Given the description of an element on the screen output the (x, y) to click on. 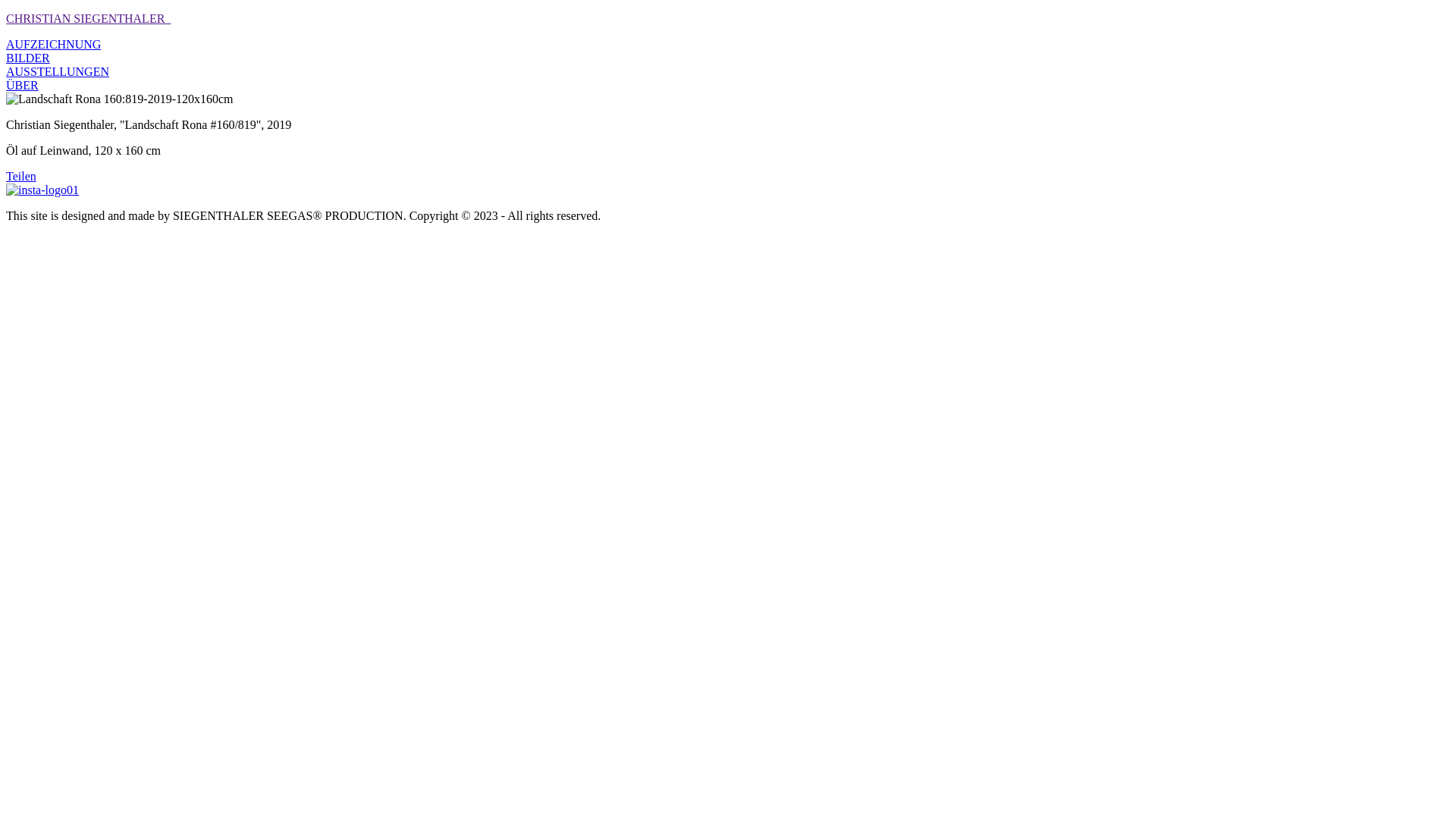
CHRISTIAN SIEGENTHALER_ Element type: text (88, 18)
AUSSTELLUNGEN Element type: text (57, 71)
BILDER Element type: text (28, 57)
insta-logo01 Element type: hover (42, 189)
Teilen Element type: text (21, 175)
AUFZEICHNUNG Element type: text (53, 43)
